Given the description of an element on the screen output the (x, y) to click on. 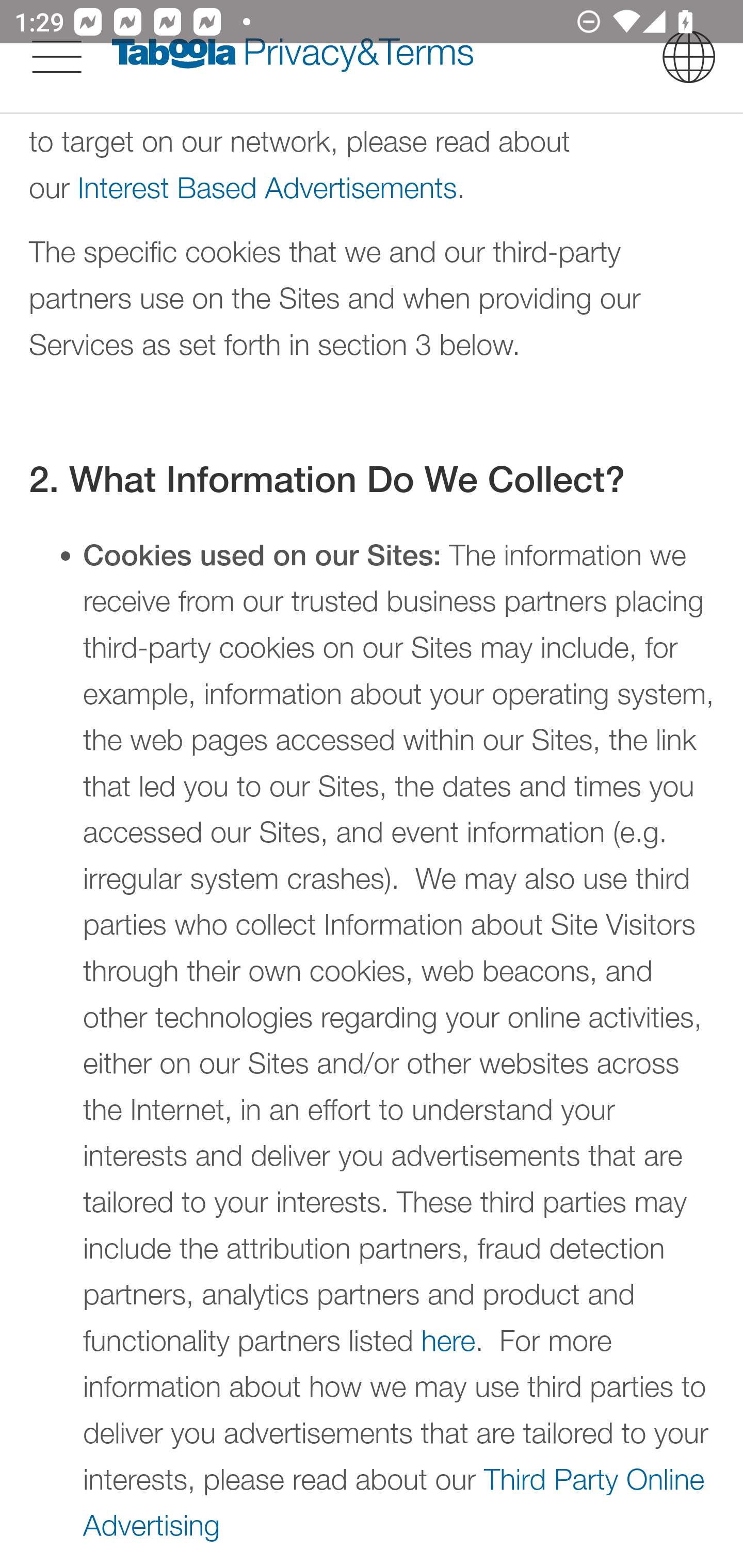
Taboola Privacy & Terms Logo (292, 56)
English (688, 56)
Interest Based Advertisements (266, 187)
here (448, 1341)
Third Party Online Advertising (394, 1502)
